Given the description of an element on the screen output the (x, y) to click on. 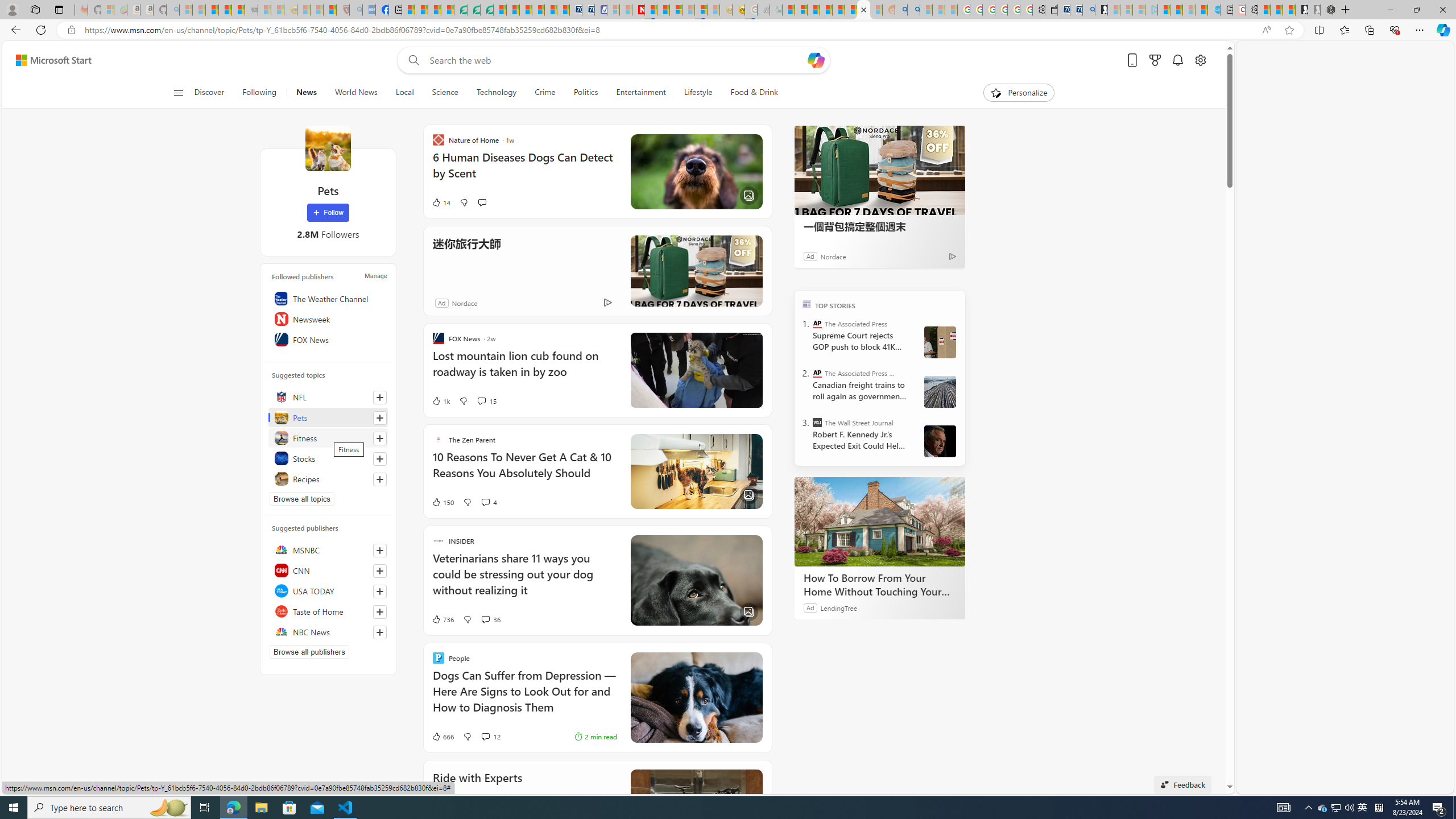
Tab actions menu (58, 9)
To get missing image descriptions, open the context menu. (995, 92)
Open Copilot (815, 59)
Kinda Frugal - MSN (850, 9)
Bing Real Estate - Home sales and rental listings (1088, 9)
Microsoft account | Privacy - Sleeping (1139, 9)
Local - MSN (329, 9)
Terms of Use Agreement (473, 9)
Student Loan Update: Forgiveness Program Ends This Month (826, 9)
The Associated Press (816, 323)
